Given the description of an element on the screen output the (x, y) to click on. 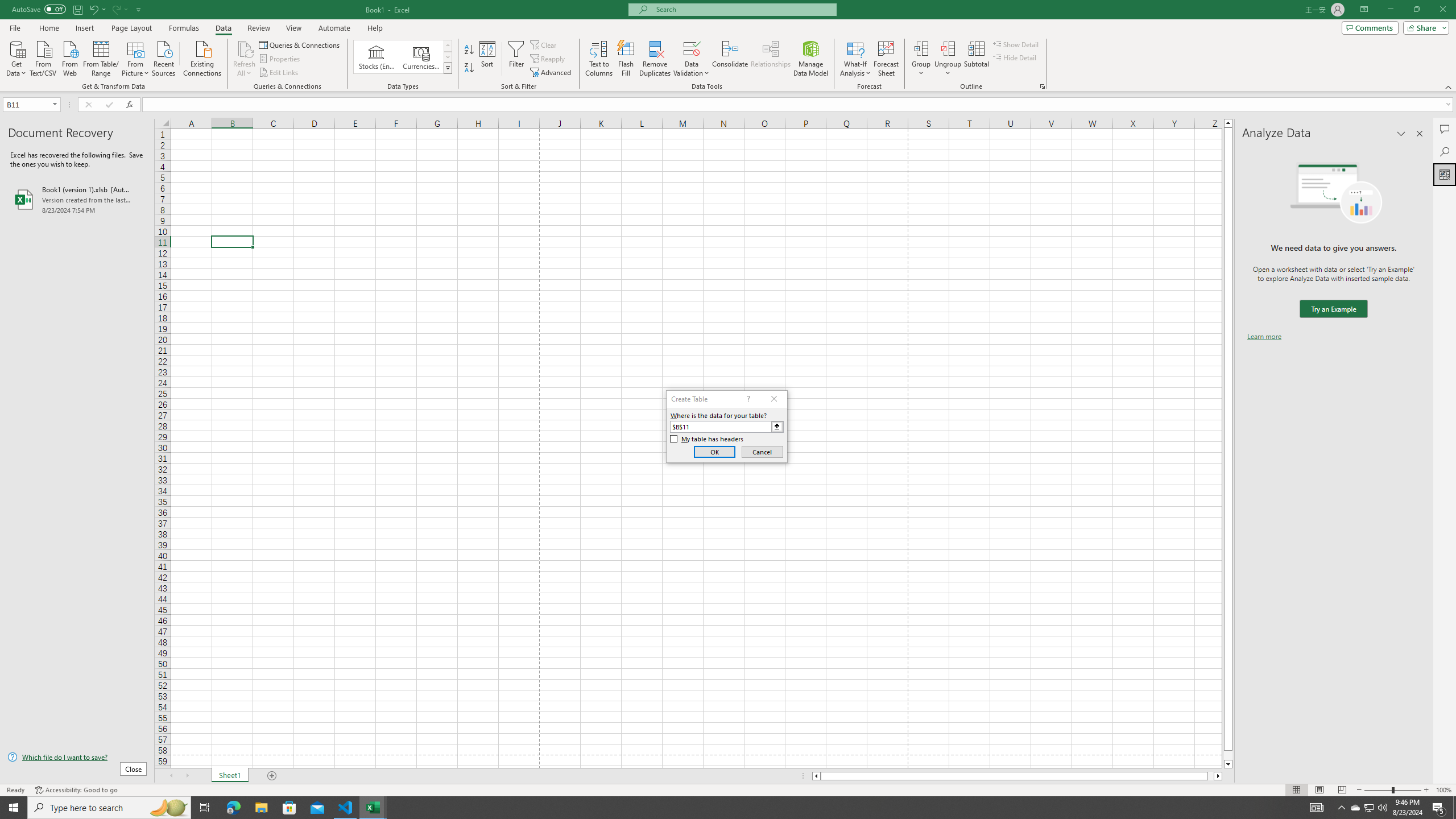
Sort... (487, 58)
Subtotal (976, 58)
